Given the description of an element on the screen output the (x, y) to click on. 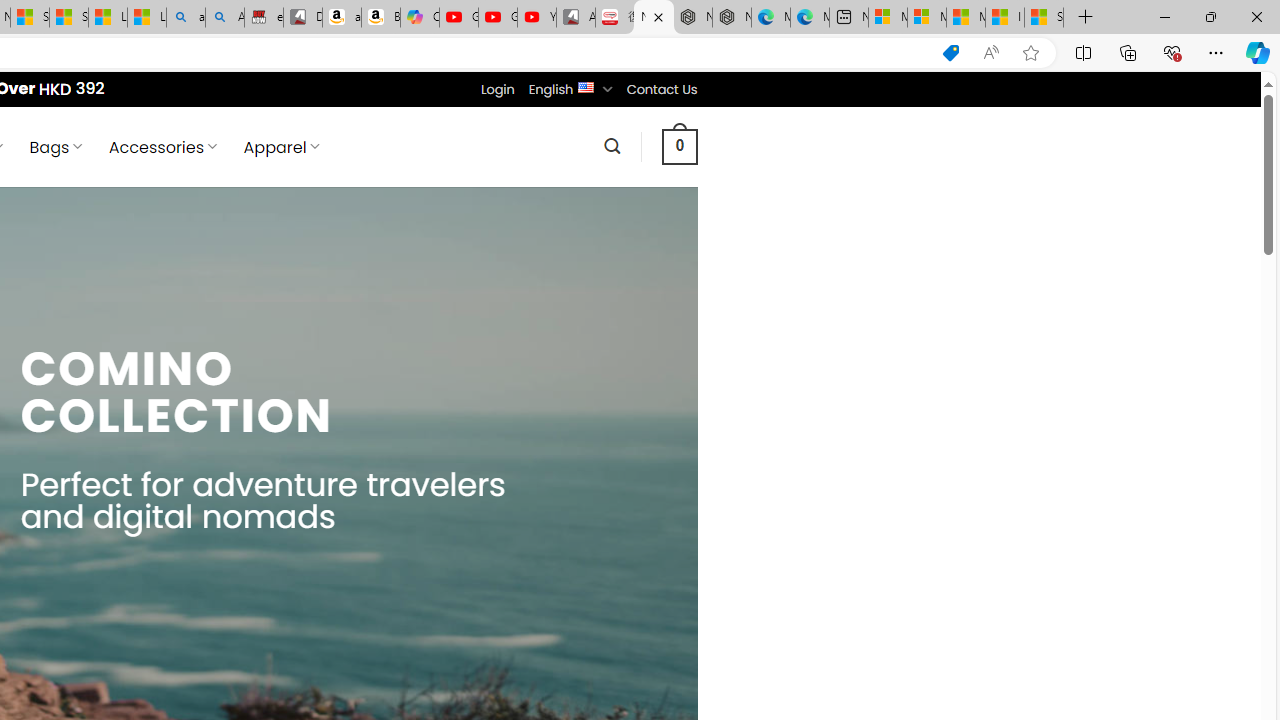
Microsoft account | Privacy (926, 17)
Copilot (419, 17)
Login (497, 89)
Amazon Echo Dot PNG - Search Images (225, 17)
amazon - Search (185, 17)
  0   (679, 146)
